Given the description of an element on the screen output the (x, y) to click on. 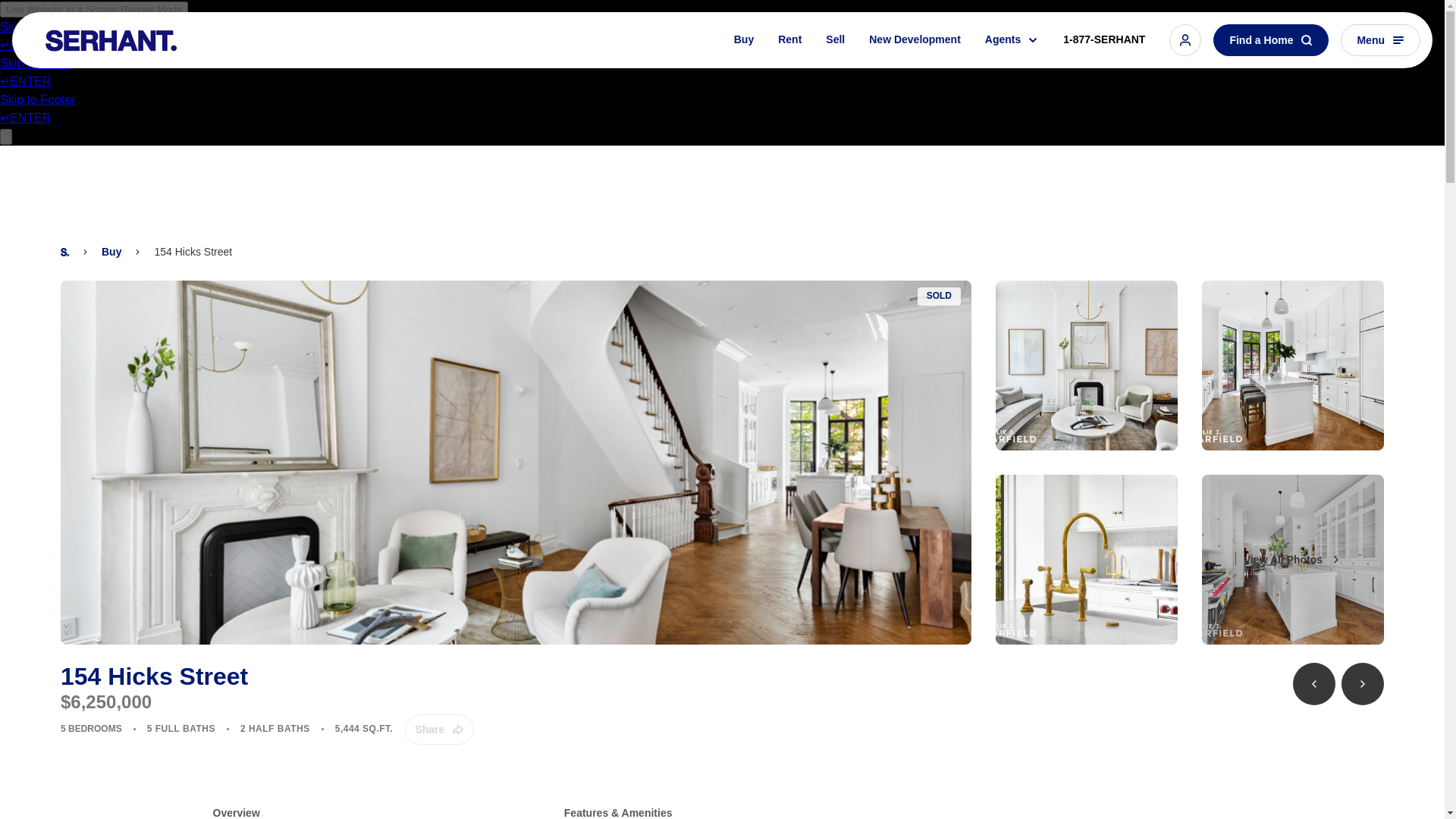
Find a Home (1269, 52)
1-877-SERHANT (1104, 53)
Rent (789, 62)
Sell (835, 61)
New Development (914, 58)
Menu (1380, 50)
Agents (1011, 58)
Toggle Sidemenu (1380, 40)
Buy (743, 63)
